Given the description of an element on the screen output the (x, y) to click on. 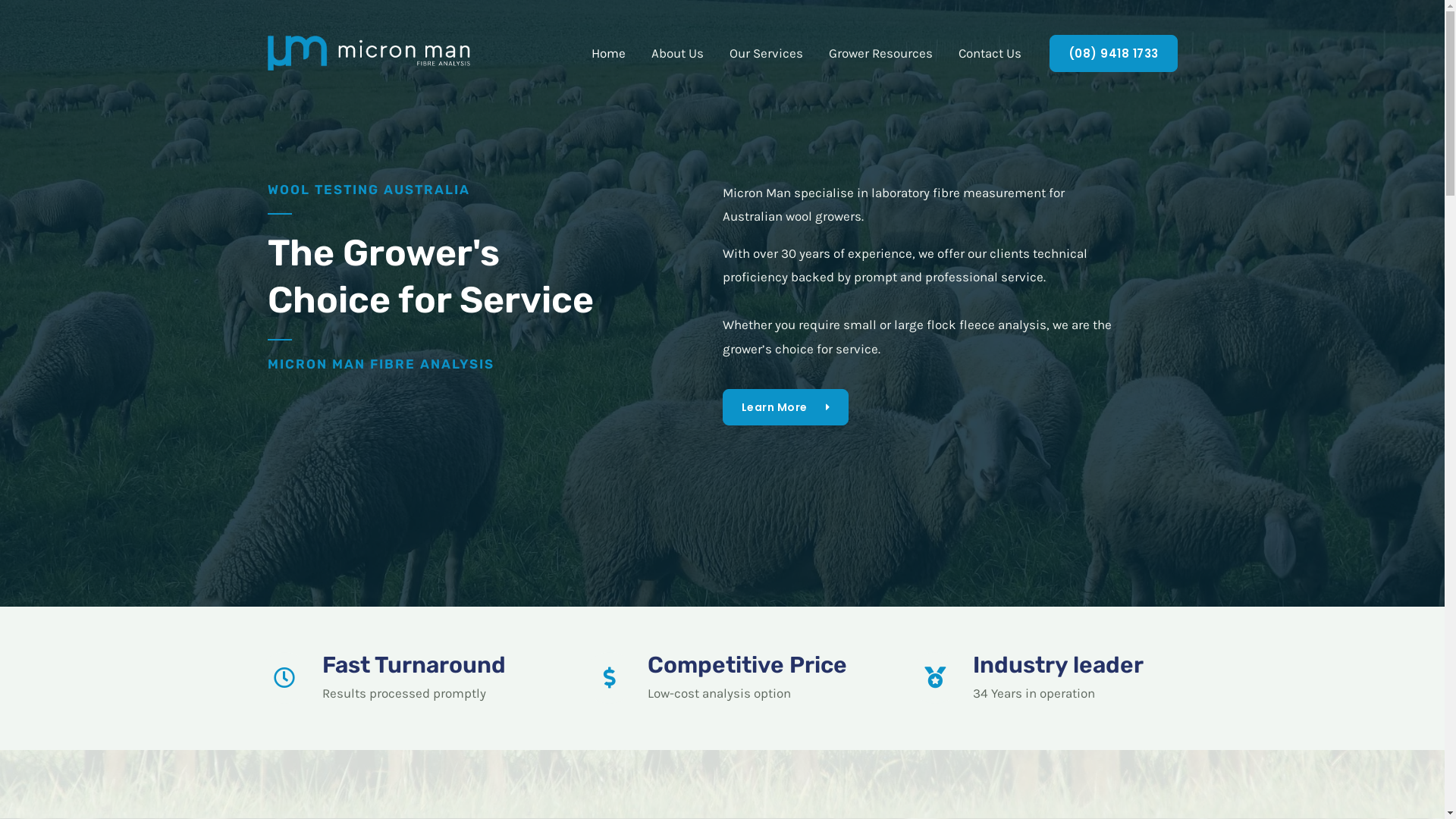
Grower Resources Element type: text (880, 53)
Learn More Element type: text (784, 407)
(08) 9418 1733 Element type: text (1113, 53)
Our Services Element type: text (765, 53)
Contact Us Element type: text (988, 53)
Home Element type: text (607, 53)
About Us Element type: text (677, 53)
